Given the description of an element on the screen output the (x, y) to click on. 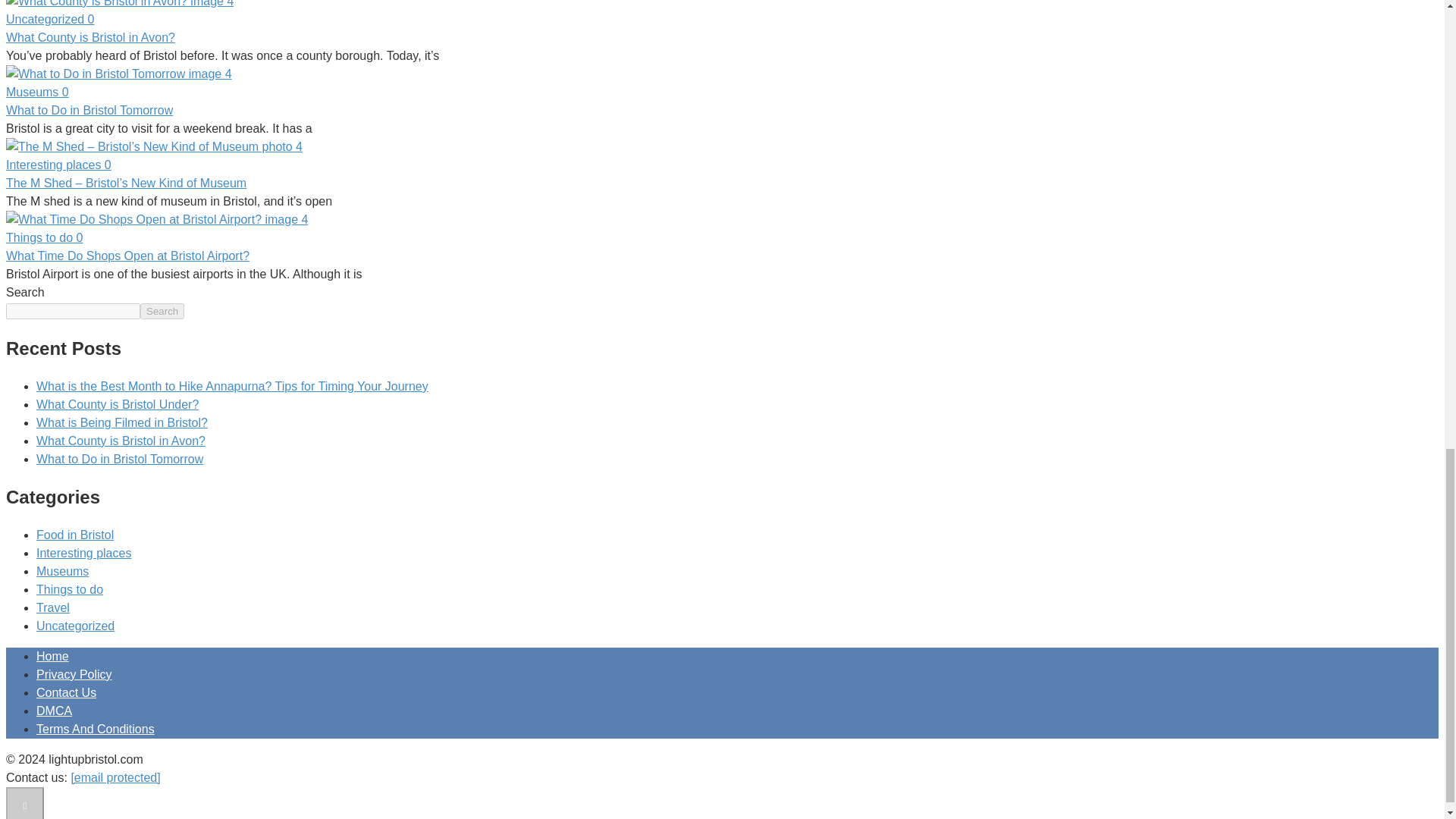
What County is Bristol in Avon? (120, 440)
What to Do in Bristol Tomorrow (89, 110)
What is Being Filmed in Bristol? (122, 422)
Food in Bristol (74, 534)
What Time Do Shops Open at Bristol Airport? (126, 255)
Interesting places (83, 553)
Search (161, 311)
What County is Bristol in Avon? (89, 37)
What to Do in Bristol Tomorrow (119, 459)
